Given the description of an element on the screen output the (x, y) to click on. 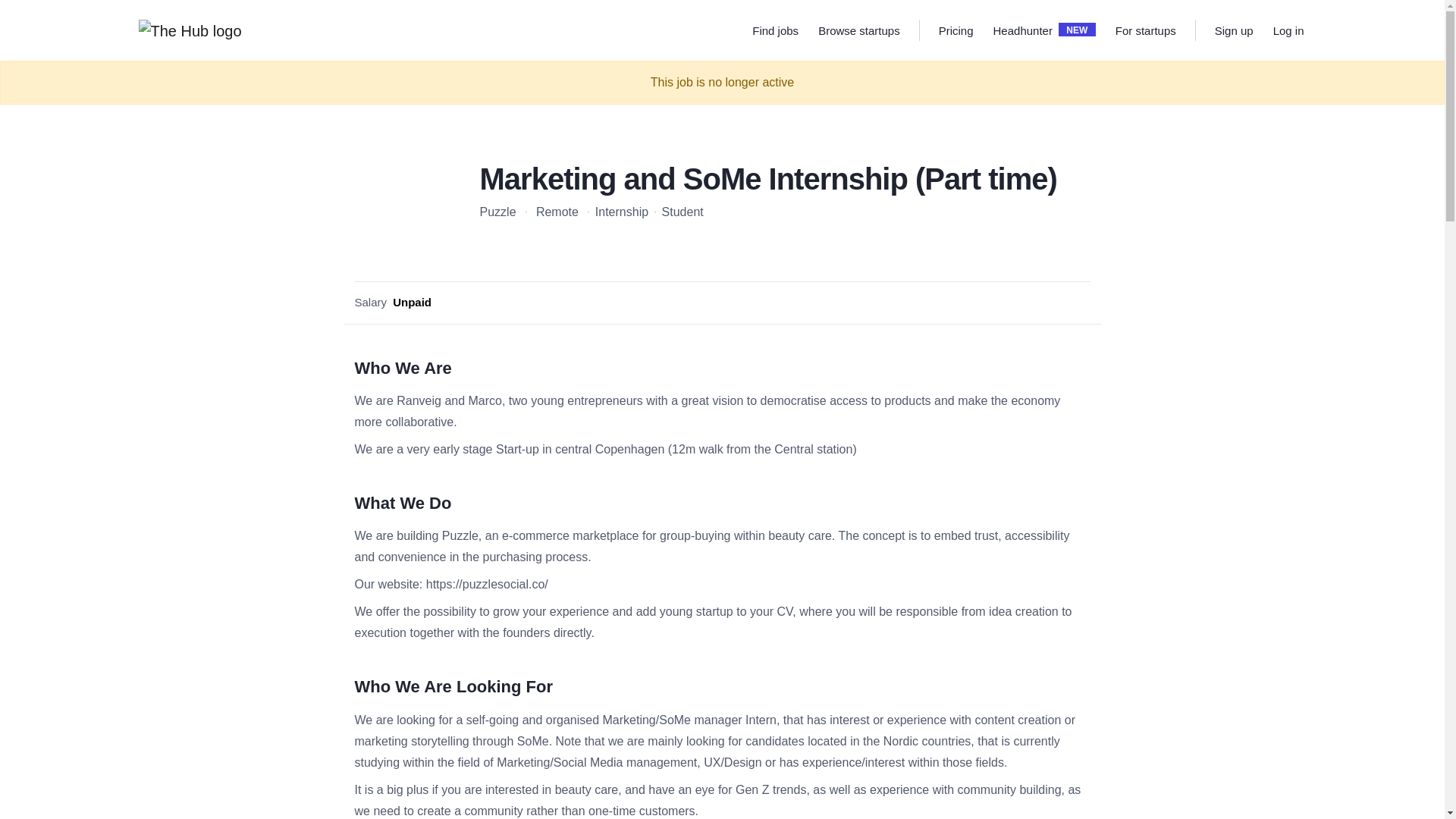
For startups (1145, 30)
Sign up (1044, 30)
For startups (1233, 30)
Sign up (1145, 30)
Browse startups (1234, 30)
Puzzle (859, 30)
Student (498, 211)
Pricing (675, 211)
Internship (956, 30)
Log in (613, 211)
Browse startups (1288, 30)
Pricing (858, 30)
Headhunter (956, 30)
Remote (1022, 30)
